Given the description of an element on the screen output the (x, y) to click on. 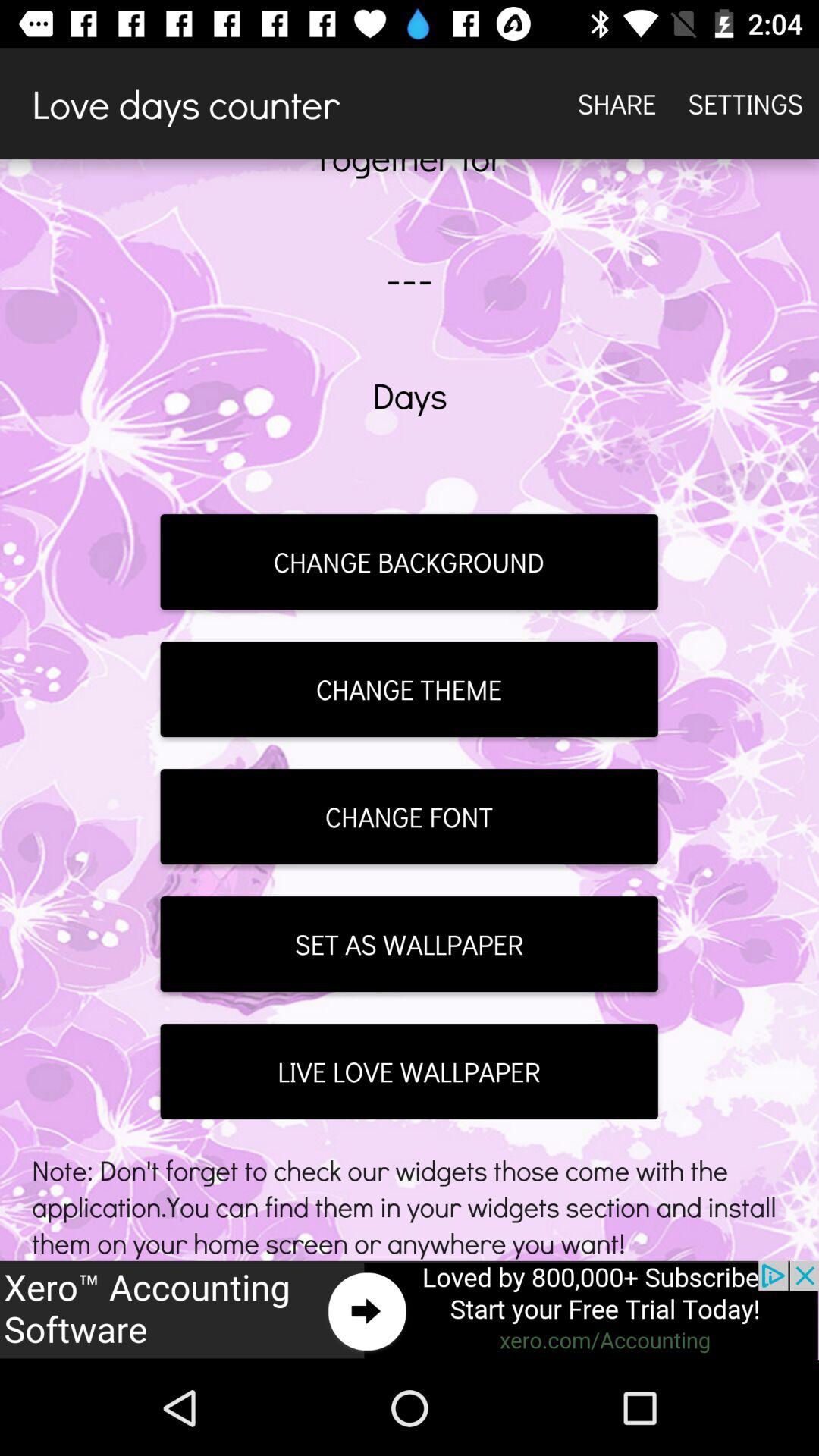
advertisement (409, 1310)
